Given the description of an element on the screen output the (x, y) to click on. 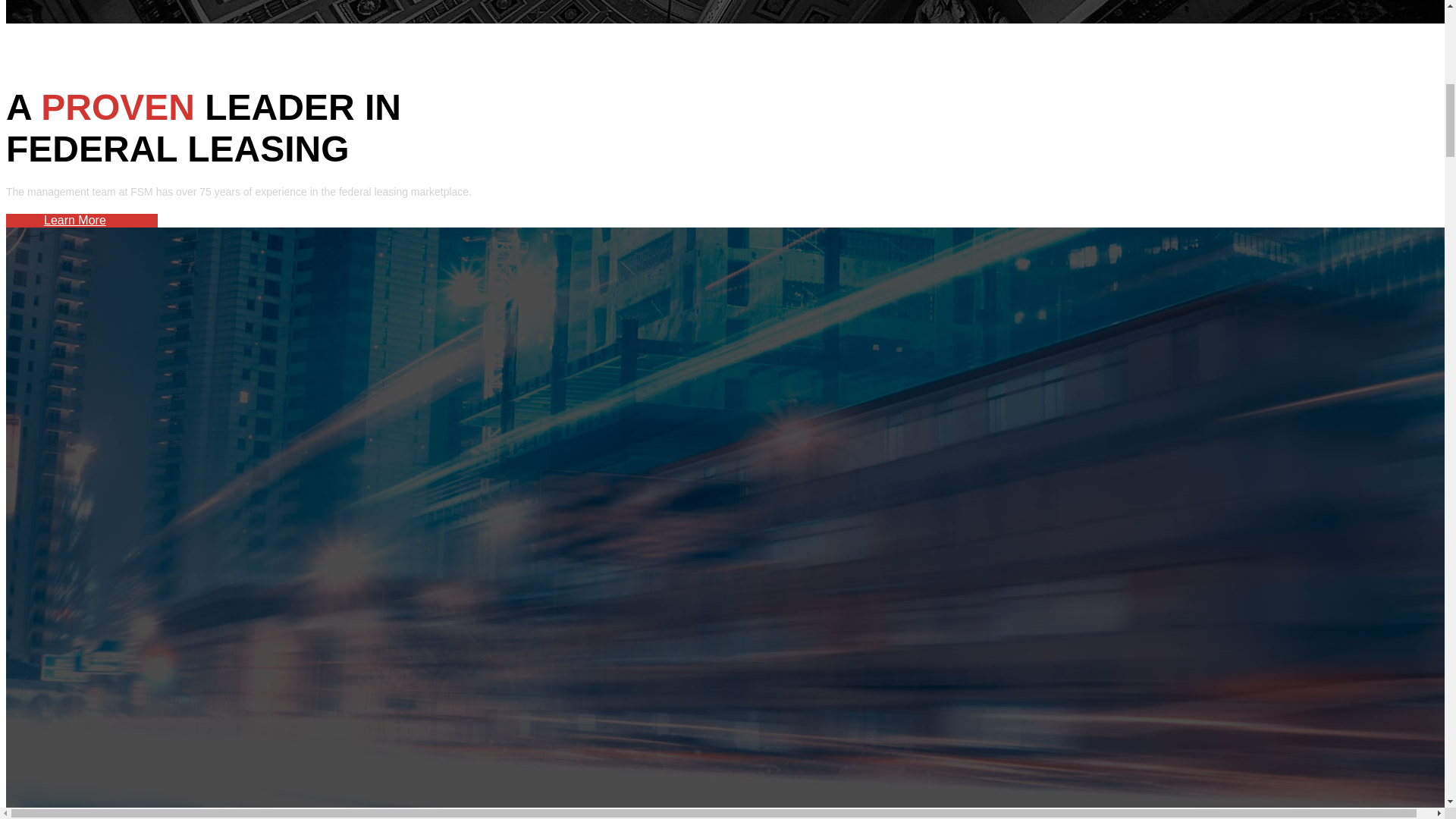
Learn More (74, 219)
